Given the description of an element on the screen output the (x, y) to click on. 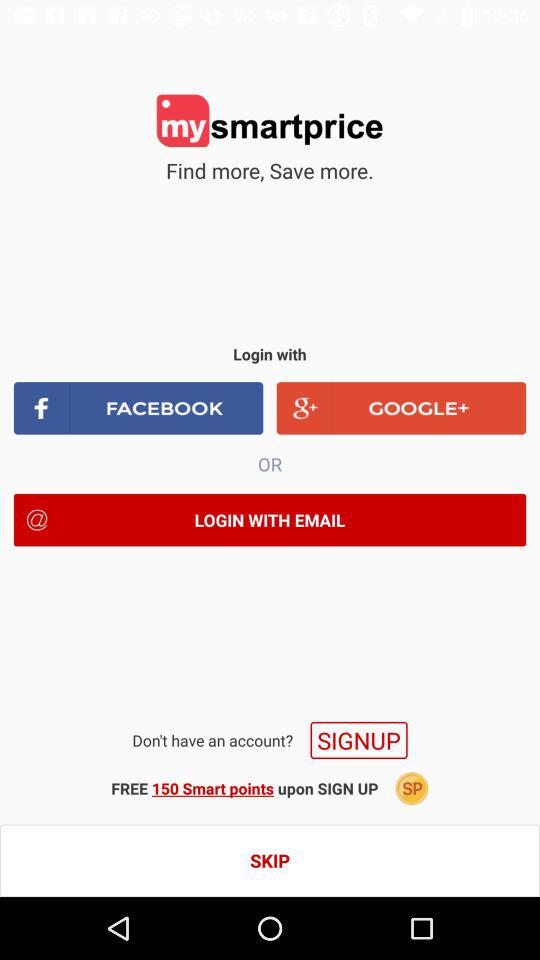
click the item next to don t have (358, 739)
